Given the description of an element on the screen output the (x, y) to click on. 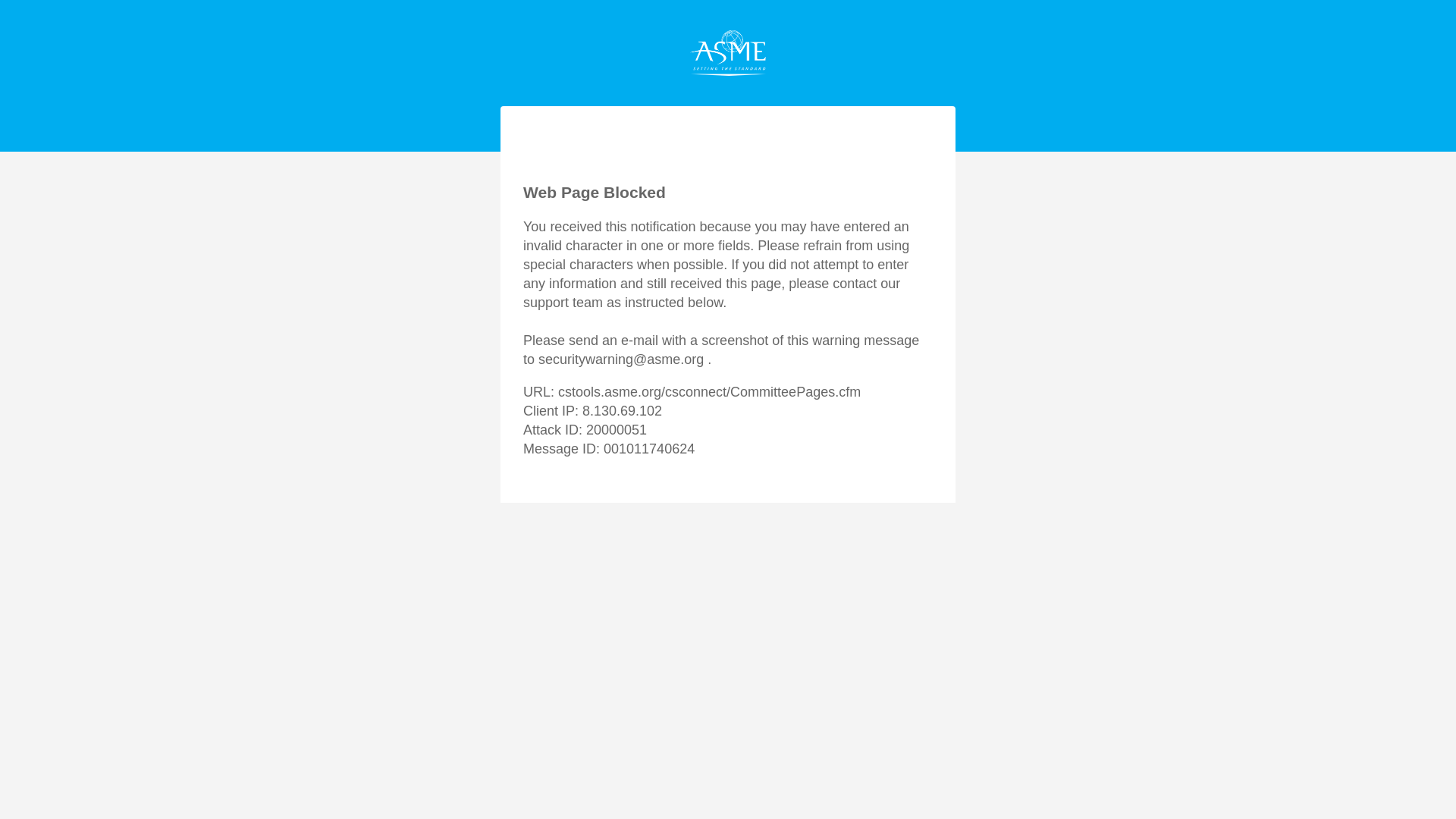
ASME Logo (727, 53)
